Given the description of an element on the screen output the (x, y) to click on. 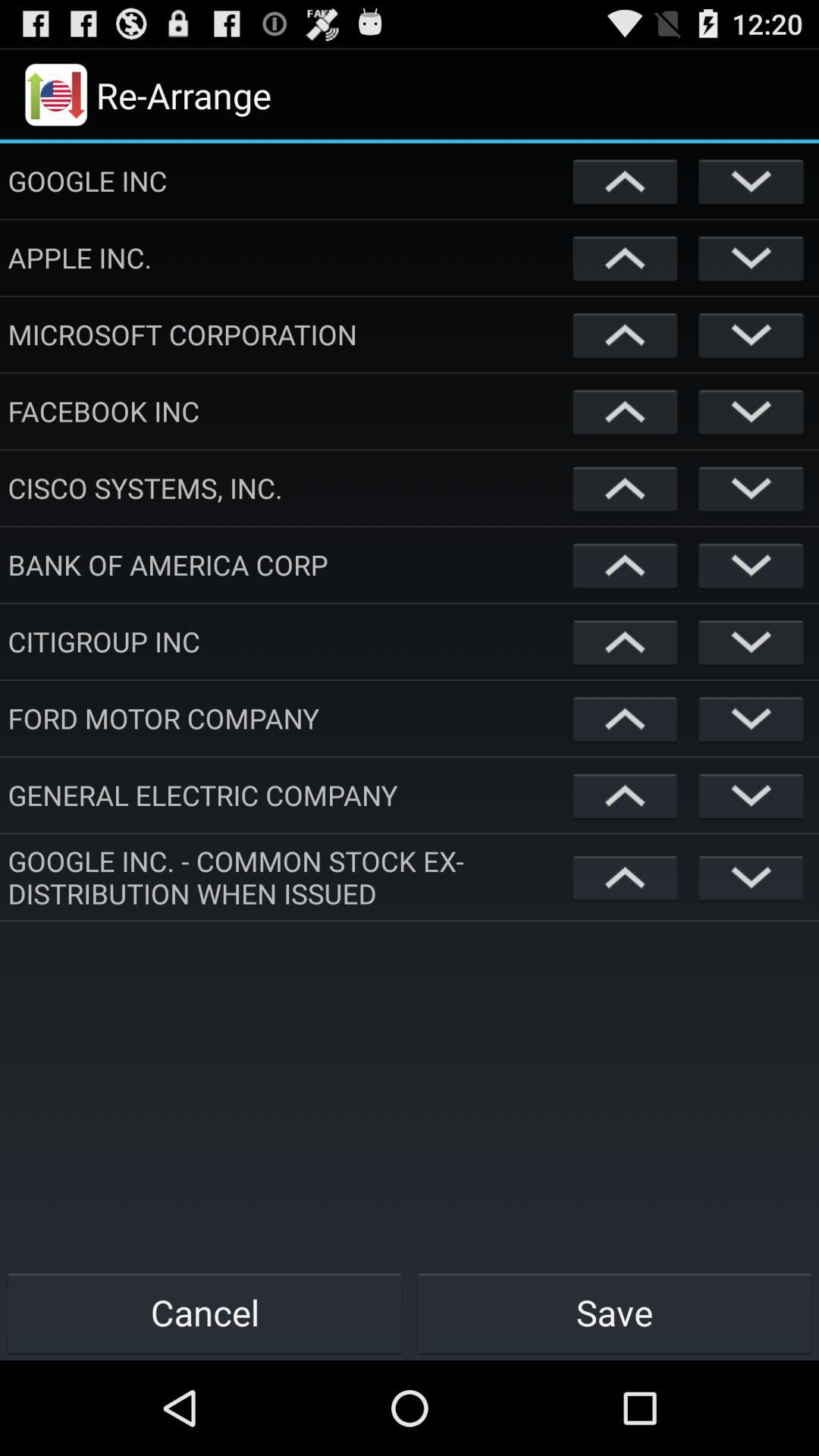
down (751, 181)
